Given the description of an element on the screen output the (x, y) to click on. 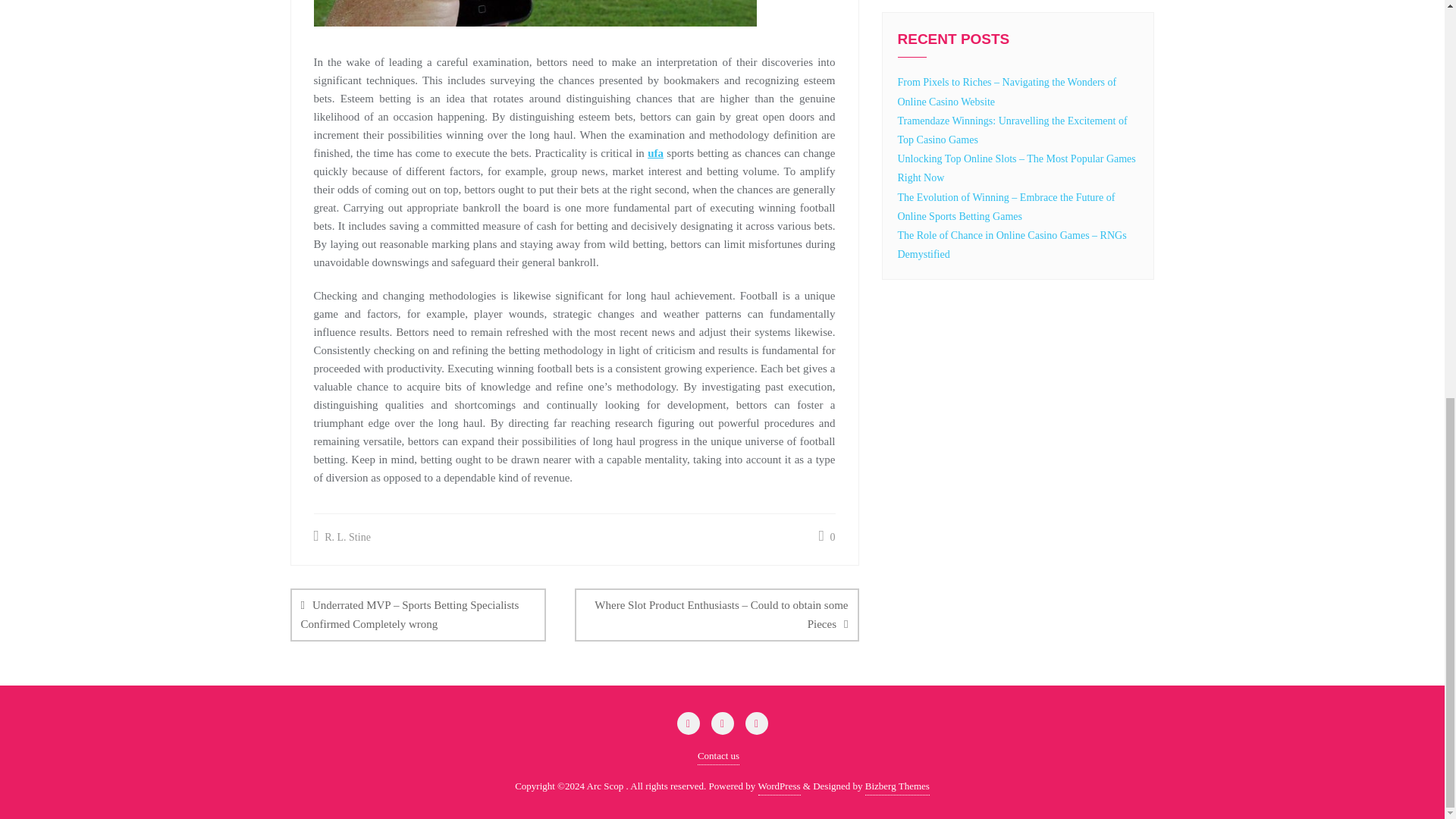
ufa (655, 152)
WordPress (779, 786)
R. L. Stine (342, 537)
Bizberg Themes (897, 786)
Contact us (718, 755)
